Given the description of an element on the screen output the (x, y) to click on. 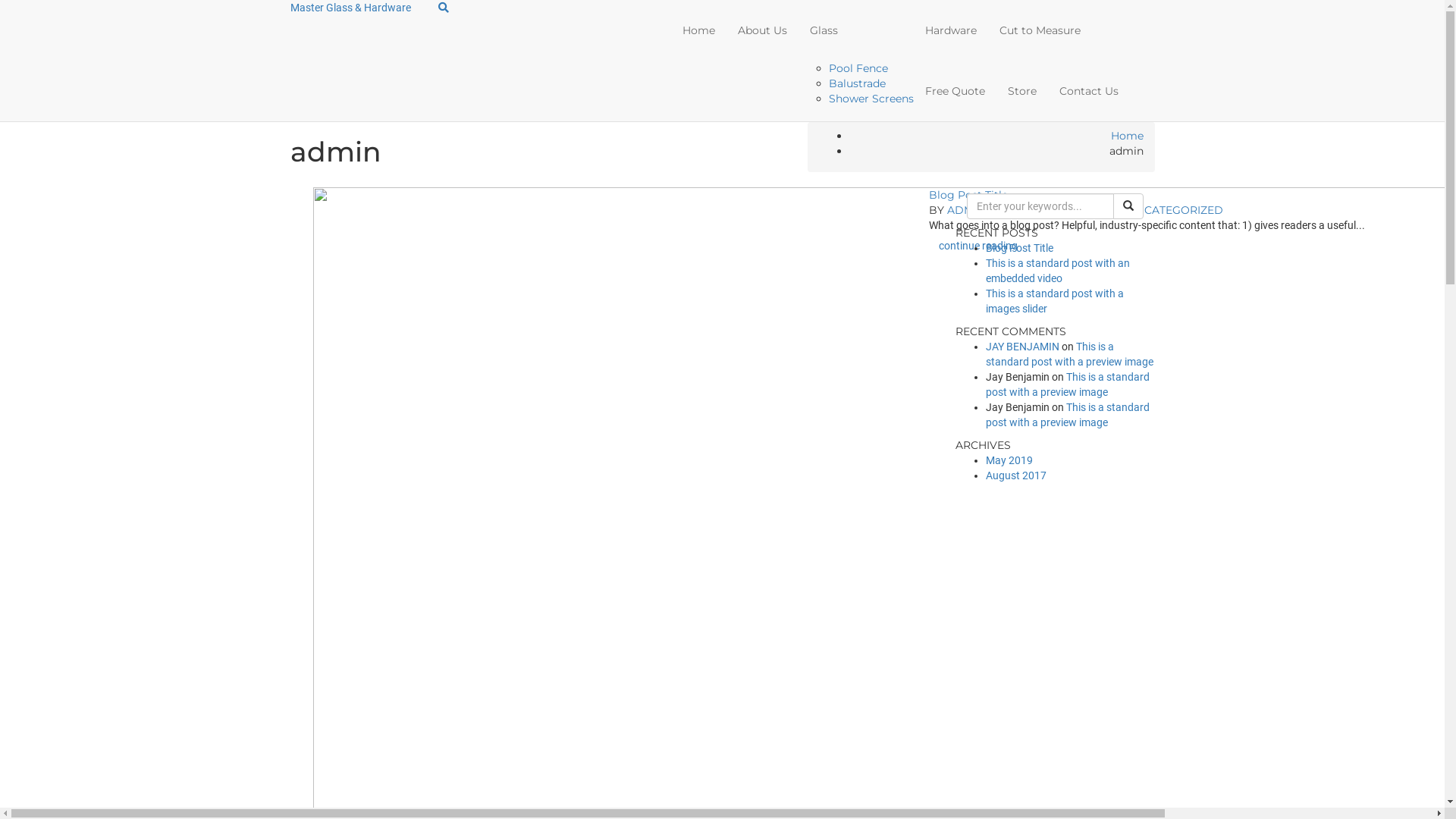
UNCATEGORIZED Element type: text (1175, 209)
August 2017 Element type: text (1015, 475)
Shower Screens Element type: text (870, 98)
Master Glass & Hardware Element type: text (349, 7)
This is a standard post with an embedded video Element type: text (1057, 270)
Pool Fence Element type: text (858, 68)
May 2019 Element type: text (1008, 460)
Free Quote Element type: text (954, 90)
Blog Post Title Element type: text (1019, 247)
This is a standard post with a preview image Element type: text (1069, 353)
This is a standard post with a images slider Element type: text (1054, 300)
Contact Us Element type: text (1088, 90)
About Us Element type: text (762, 30)
Home Element type: text (698, 30)
This is a standard post with a preview image Element type: text (1067, 384)
ADMIN Element type: text (966, 209)
This is a standard post with a preview image Element type: text (1067, 414)
Hardware Element type: text (950, 30)
Store Element type: text (1022, 90)
Cut to Measure Element type: text (1040, 30)
Glass Element type: text (855, 30)
Blog Post Title Element type: text (967, 194)
JAY BENJAMIN Element type: text (1022, 346)
Balustrade Element type: text (856, 83)
continue reading Element type: text (977, 245)
Home Element type: text (1126, 135)
